Given the description of an element on the screen output the (x, y) to click on. 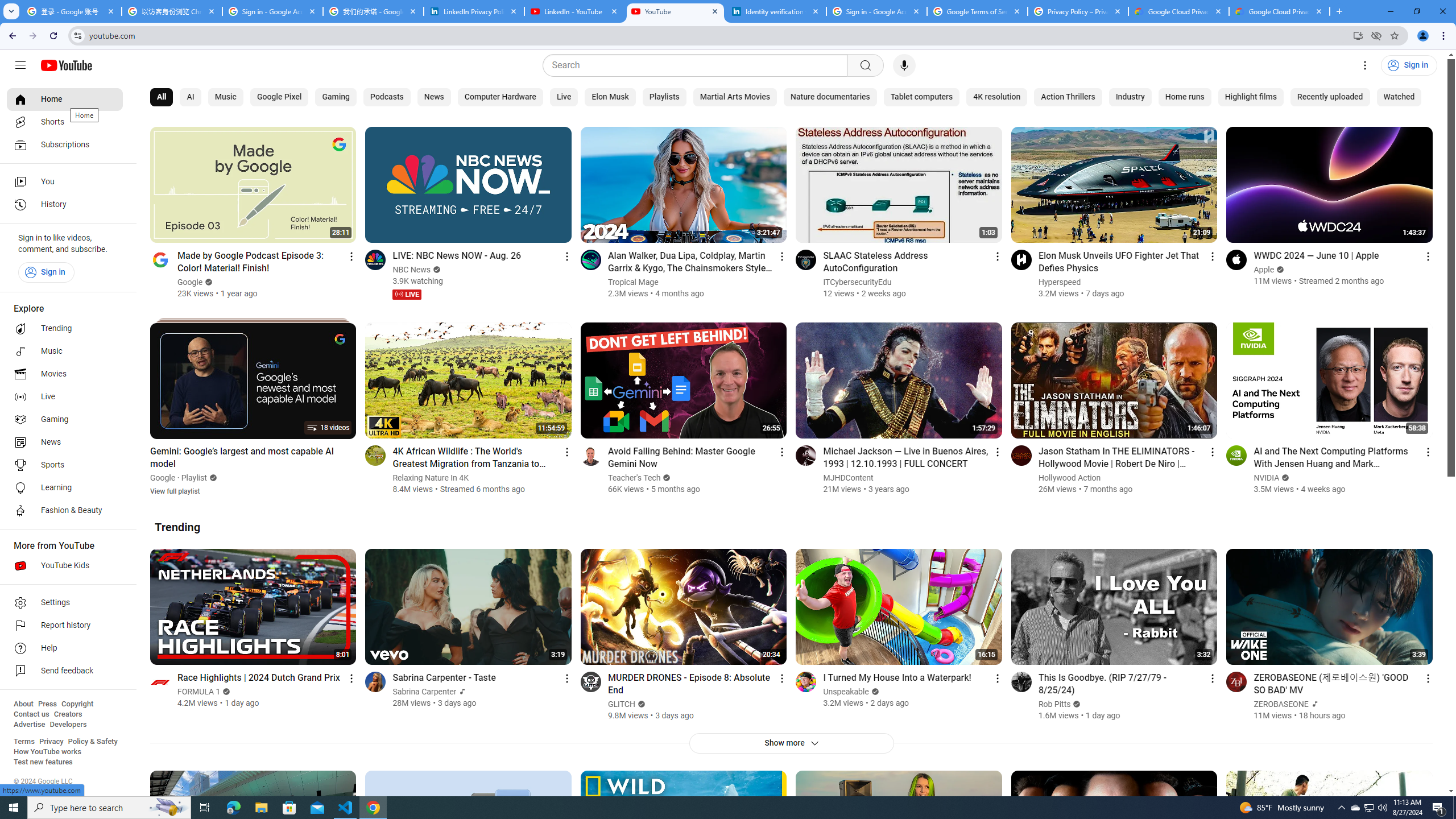
FORMULA 1 (199, 691)
Unspeakable (846, 691)
LIVE (406, 294)
Home runs (1184, 97)
Install YouTube (1358, 35)
Hyperspeed (1059, 282)
Learning (64, 487)
Action Thrillers (1067, 97)
Settings (64, 602)
Home (64, 99)
Go to channel (1236, 681)
